Given the description of an element on the screen output the (x, y) to click on. 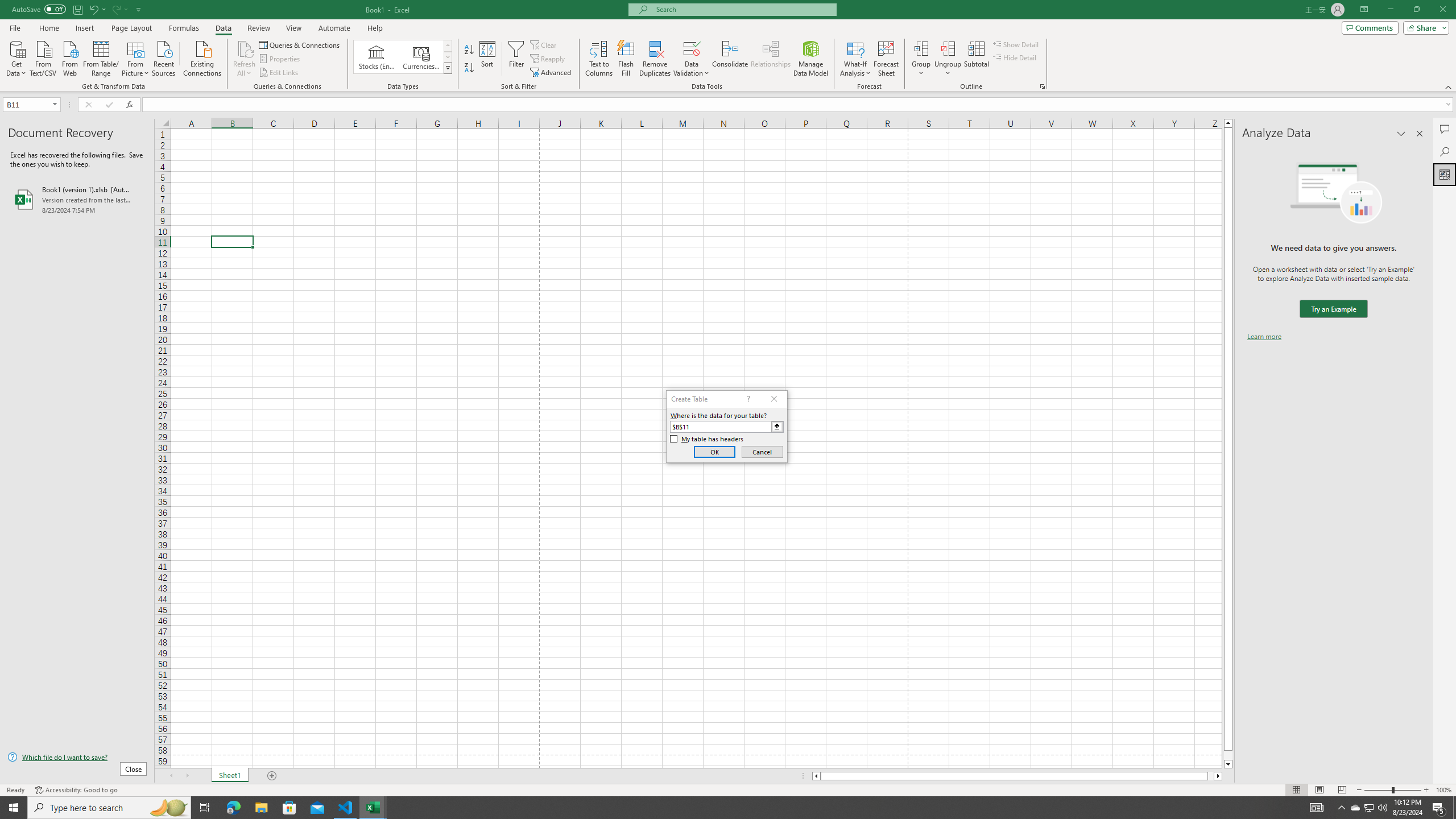
Flash Fill (625, 58)
Class: MsoCommandBar (728, 45)
Book1 (version 1).xlsb  [AutoRecovered] (77, 199)
From Text/CSV (43, 57)
Currencies (English) (420, 56)
Hide Detail (1014, 56)
Search (1444, 151)
